Given the description of an element on the screen output the (x, y) to click on. 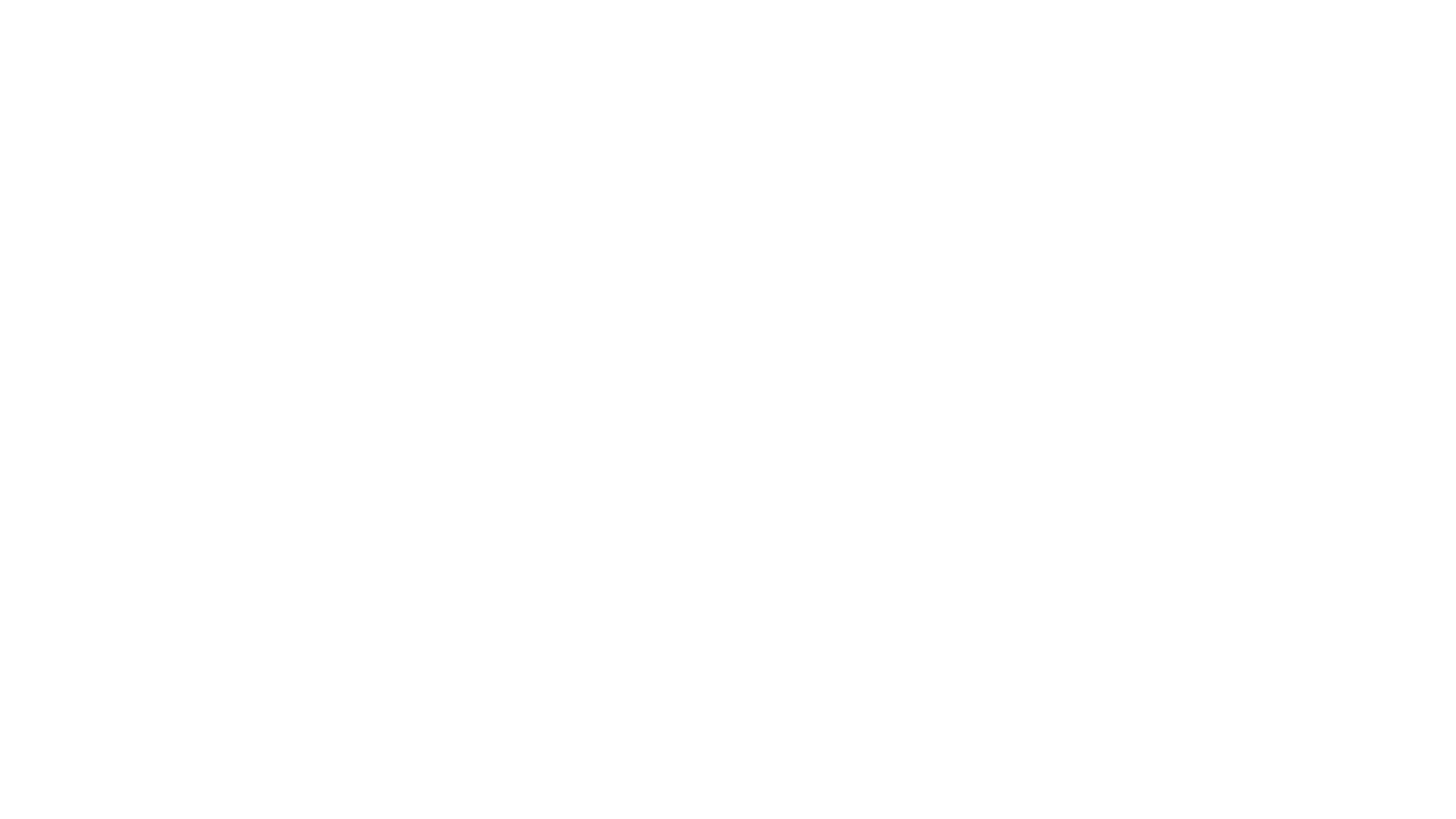
Subscribe Element type: text (573, 363)
